Given the description of an element on the screen output the (x, y) to click on. 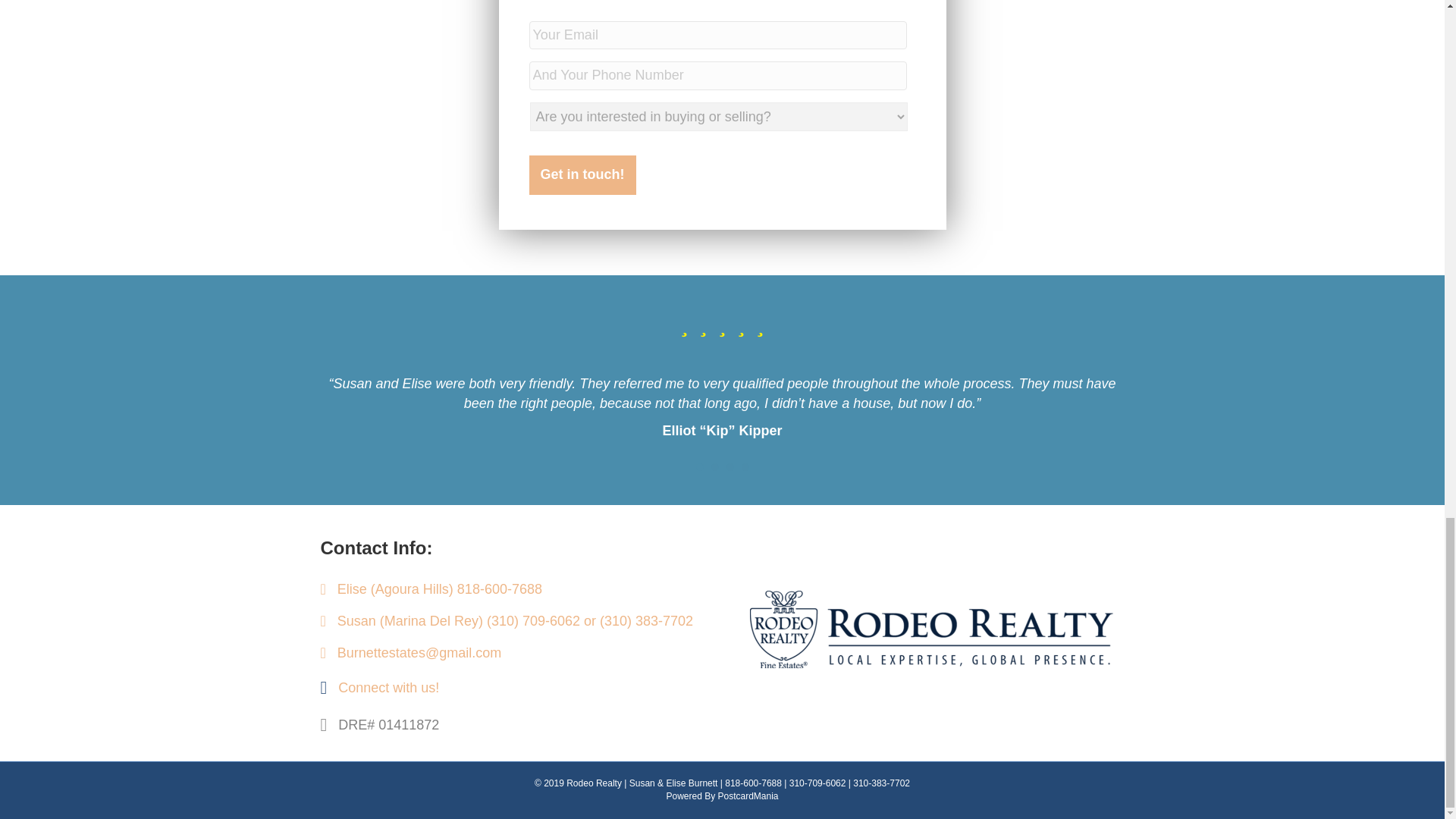
1 (699, 466)
RodeoRealty-Long (930, 632)
Get in touch! (582, 174)
3 (729, 466)
Connect with us! (388, 687)
Get in touch! (582, 174)
2 (715, 466)
4 (745, 466)
Powered By PostcardMania (721, 796)
818-600-7688 (499, 589)
